Given the description of an element on the screen output the (x, y) to click on. 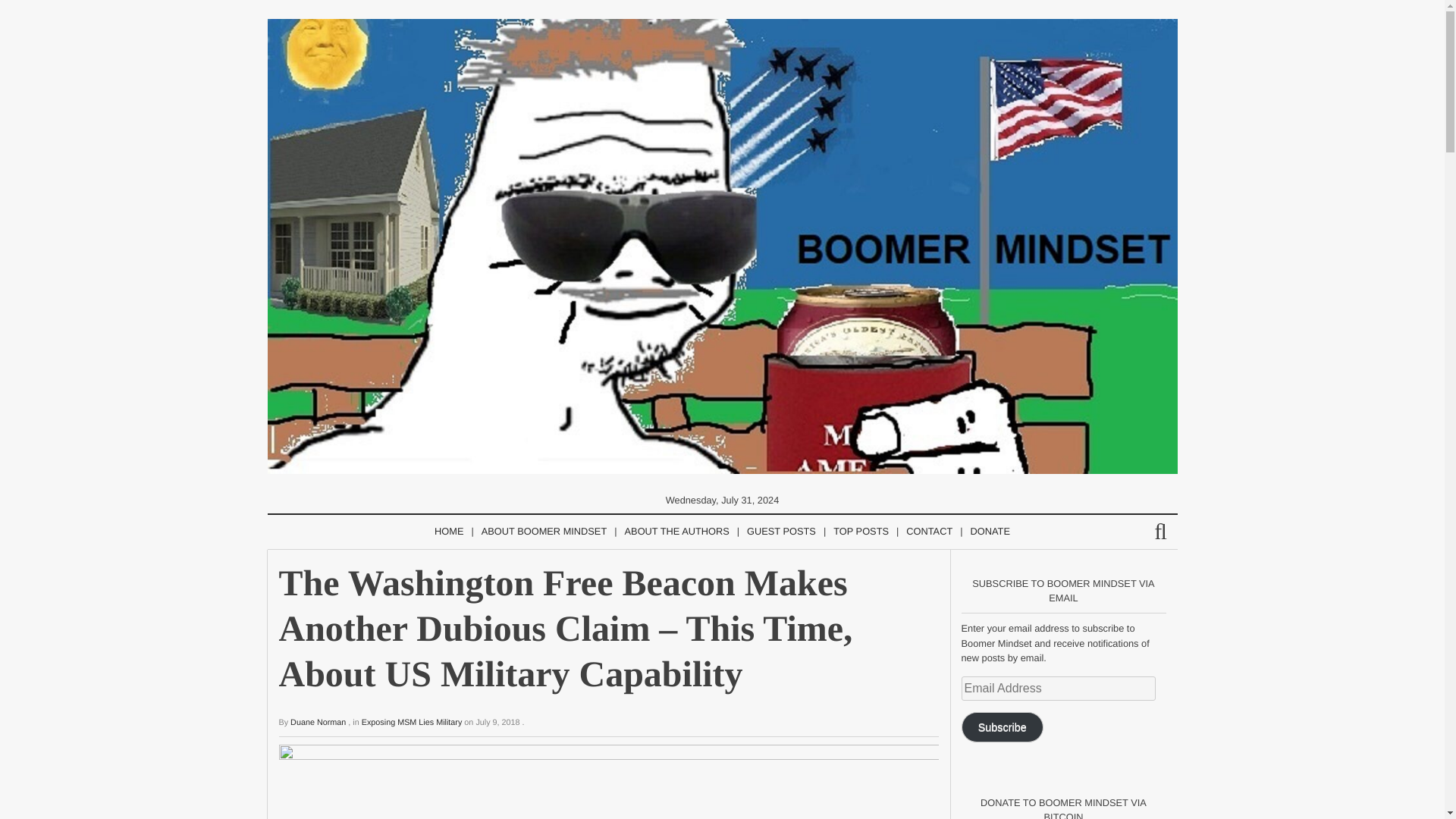
GUEST POSTS (781, 531)
TOP POSTS (860, 531)
ABOUT BOOMER MINDSET (544, 531)
DONATE (989, 531)
CONTACT (928, 531)
Exposing MSM Lies (397, 722)
ABOUT THE AUTHORS (676, 531)
HOME (448, 531)
Military (448, 722)
Posts by Duane Norman (317, 722)
Duane Norman (317, 722)
